Given the description of an element on the screen output the (x, y) to click on. 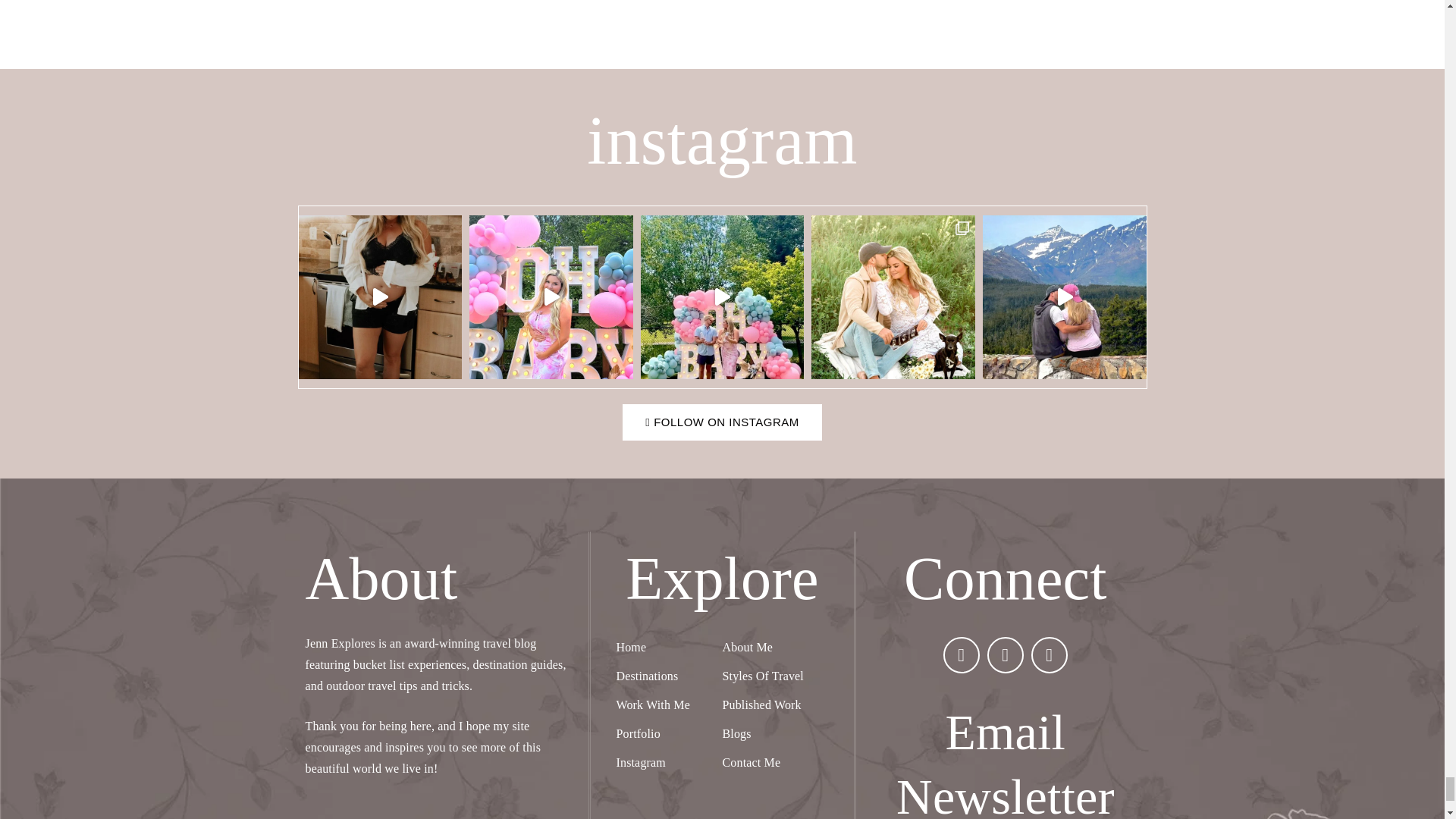
instagram (1005, 655)
facebook (961, 655)
pinterest (1048, 655)
